Given the description of an element on the screen output the (x, y) to click on. 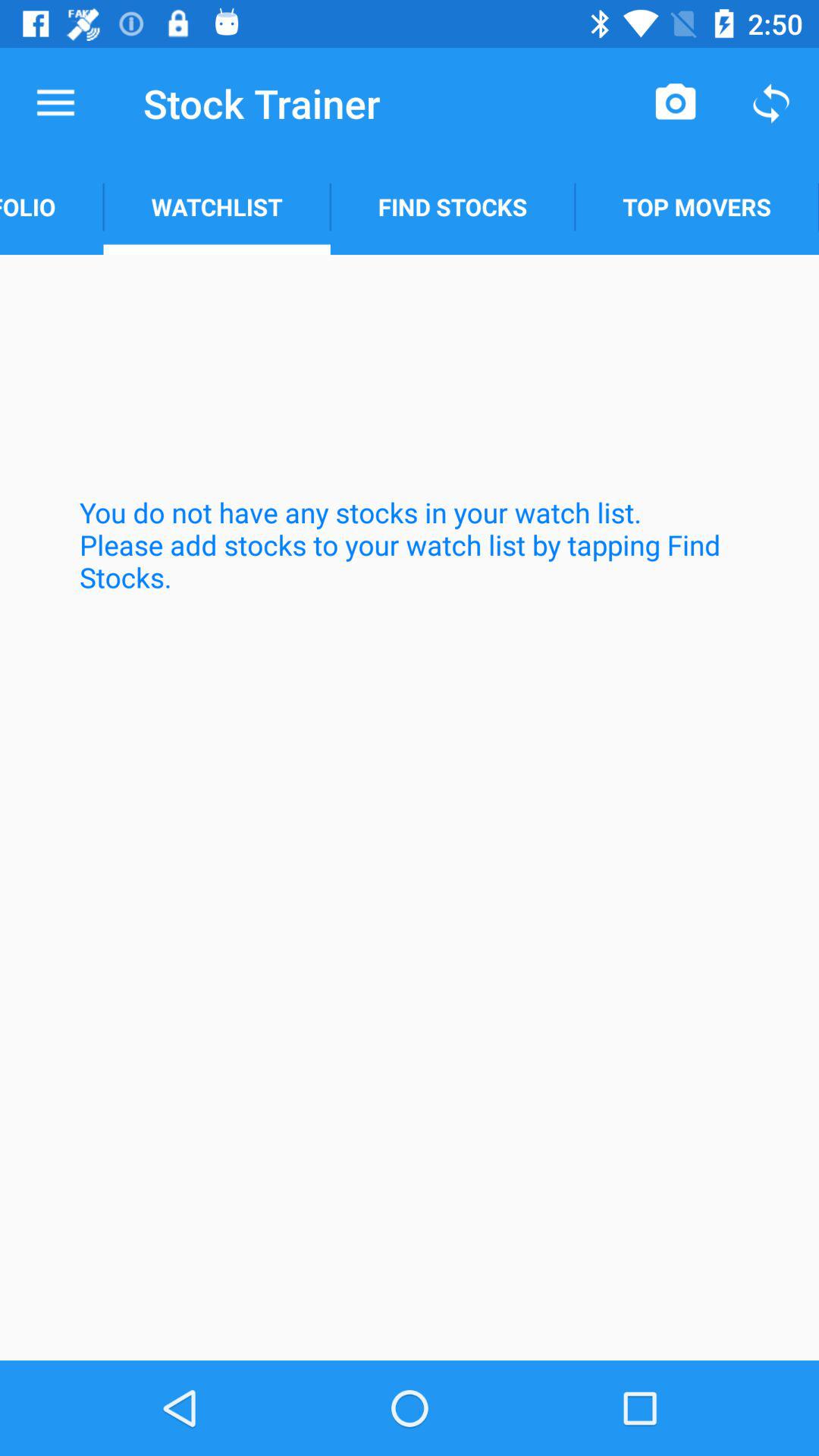
turn on the portfolio app (51, 206)
